Given the description of an element on the screen output the (x, y) to click on. 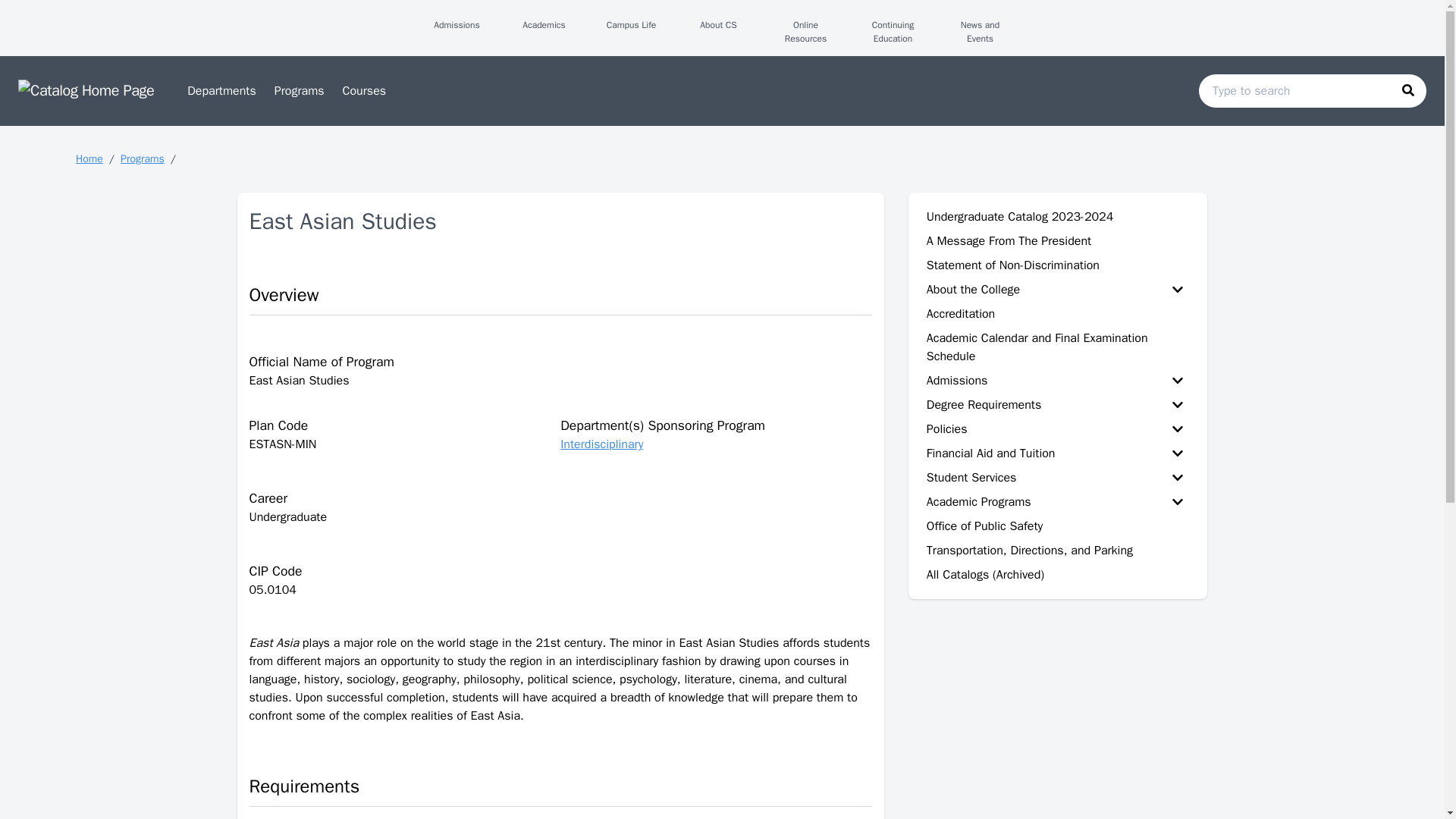
Academics (543, 37)
Admissions (457, 37)
Departments (220, 91)
Programs (298, 91)
Campus Life (630, 37)
Programs (298, 91)
Courses (364, 91)
Continuing Education (892, 37)
Courses (364, 91)
Online Resources (805, 37)
Departments (220, 91)
News and Events (980, 37)
About CS (718, 37)
